Given the description of an element on the screen output the (x, y) to click on. 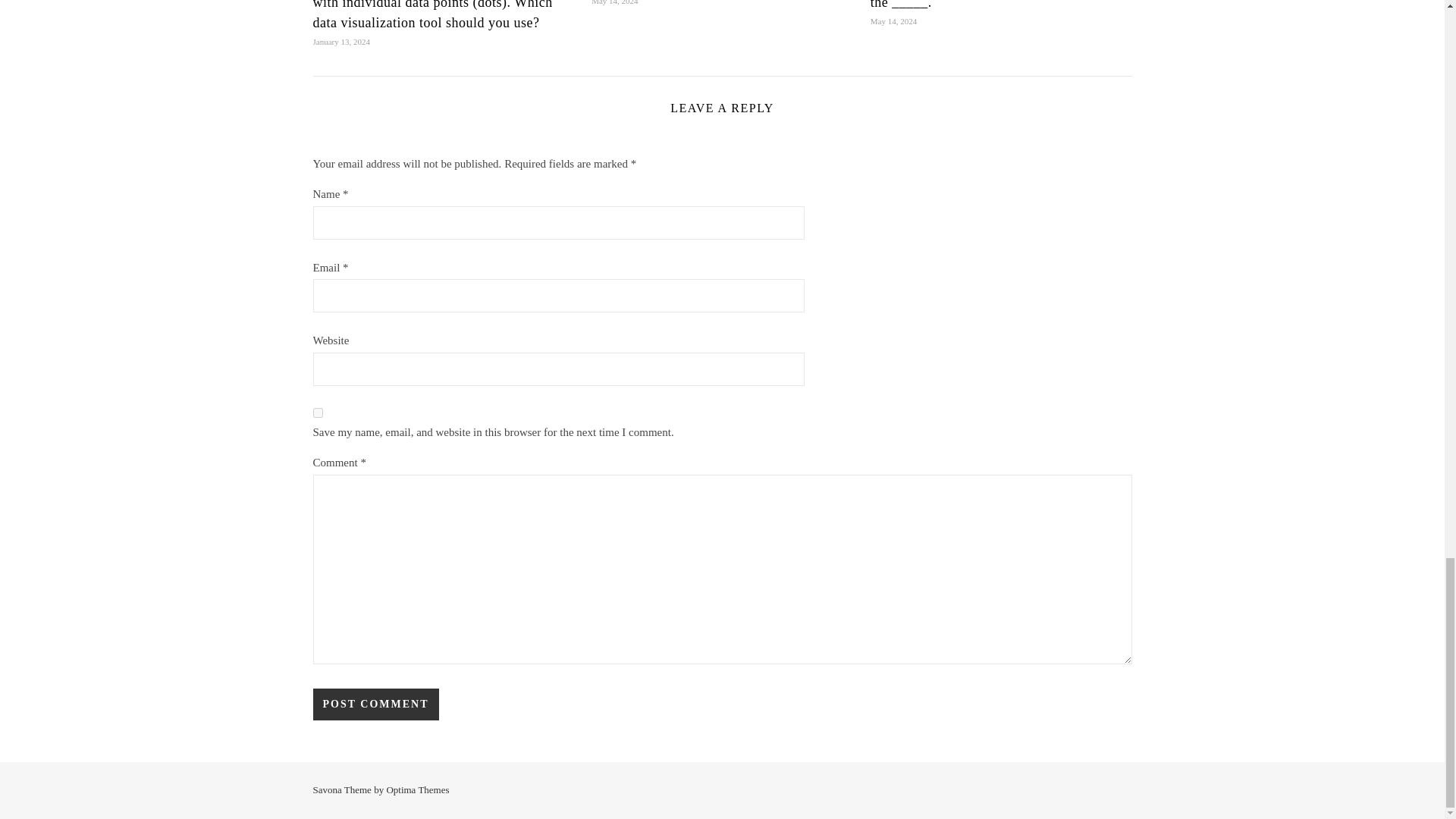
Post Comment (375, 704)
yes (317, 412)
Optima Themes (416, 789)
Post Comment (375, 704)
